Given the description of an element on the screen output the (x, y) to click on. 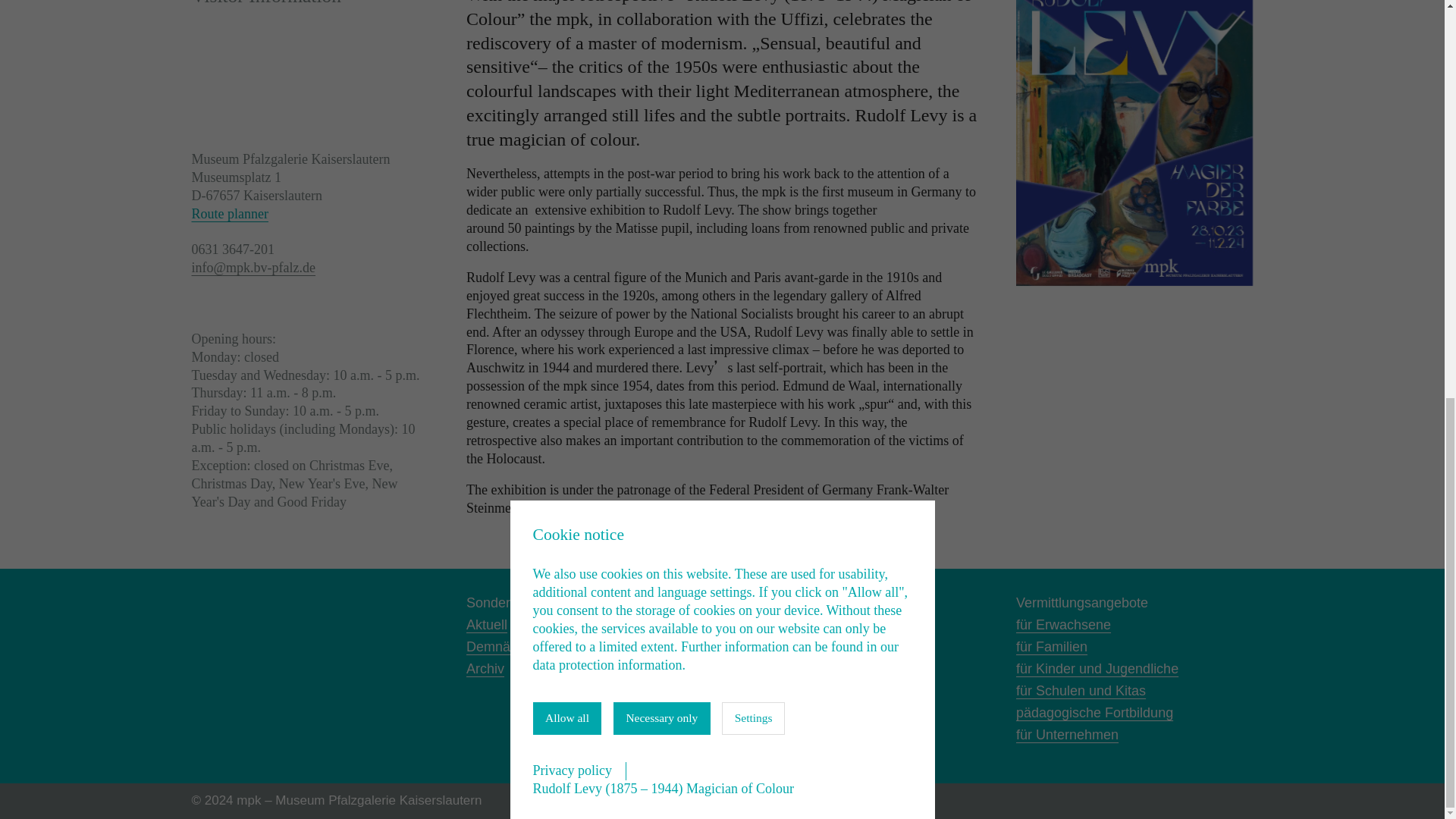
Archiv (484, 668)
Aktuell (485, 624)
Skulpturen (773, 646)
Malerei (763, 624)
